Given the description of an element on the screen output the (x, y) to click on. 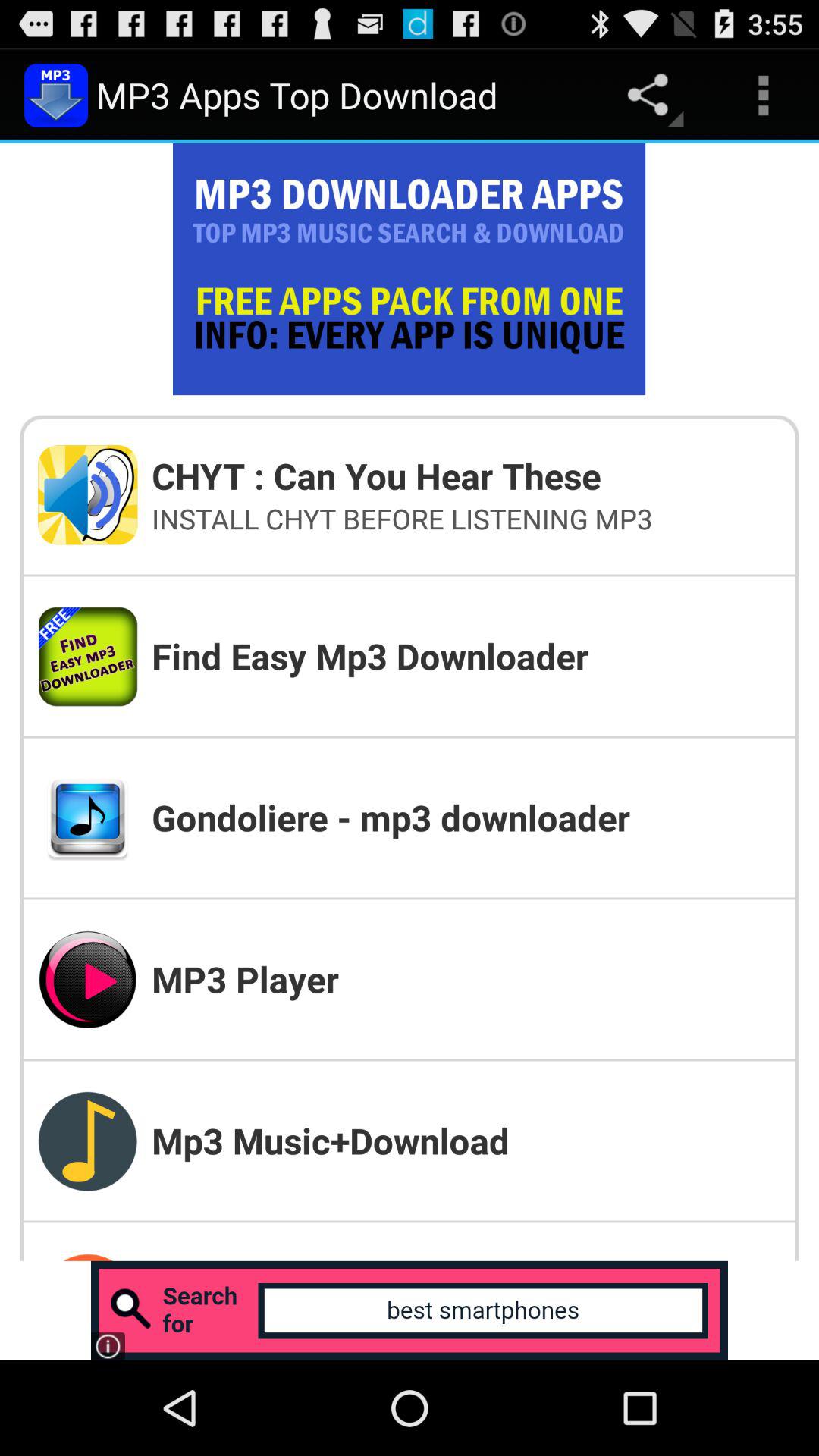
go to the partner 's website (409, 1310)
